Given the description of an element on the screen output the (x, y) to click on. 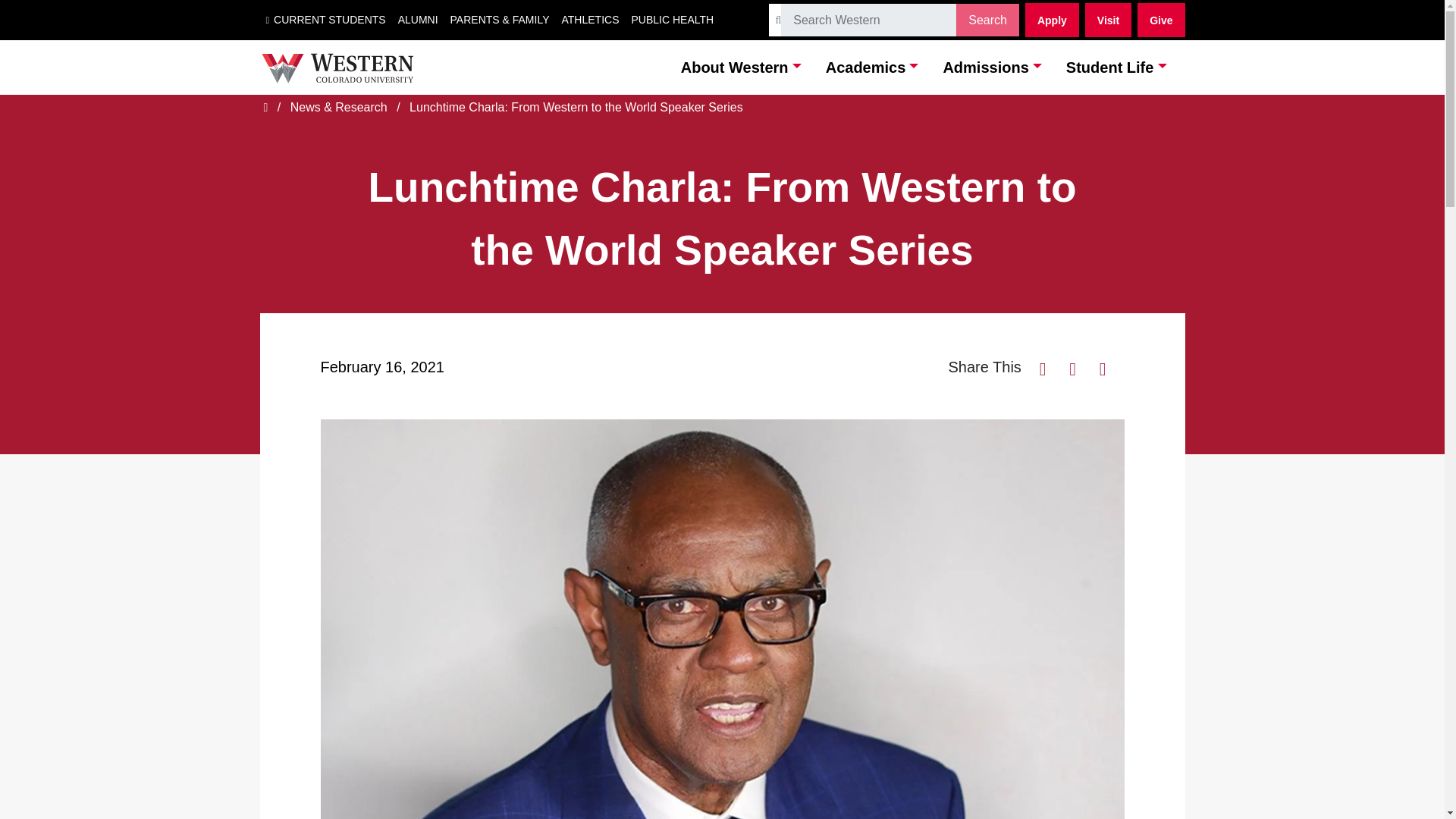
Western Colorado University (336, 68)
Academics (871, 67)
Apply (1051, 19)
Search (868, 20)
Give (1161, 19)
PUBLIC HEALTH (671, 20)
Visit (1107, 19)
About Western (741, 67)
CURRENT STUDENTS (325, 20)
ATHLETICS (591, 20)
